Given the description of an element on the screen output the (x, y) to click on. 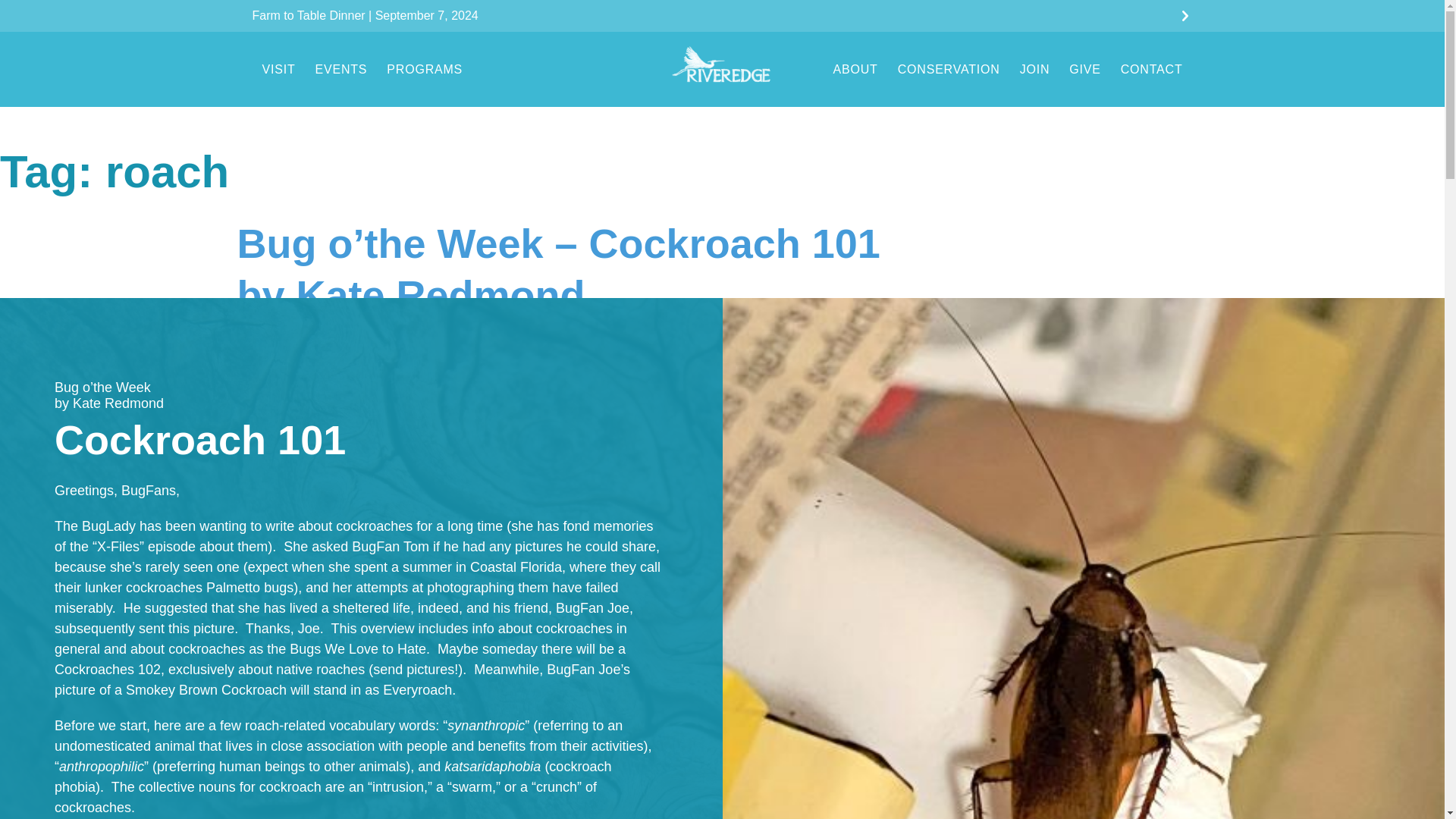
PROGRAMS (424, 69)
CONSERVATION (949, 69)
EVENTS (341, 69)
CONTACT (1151, 69)
